Given the description of an element on the screen output the (x, y) to click on. 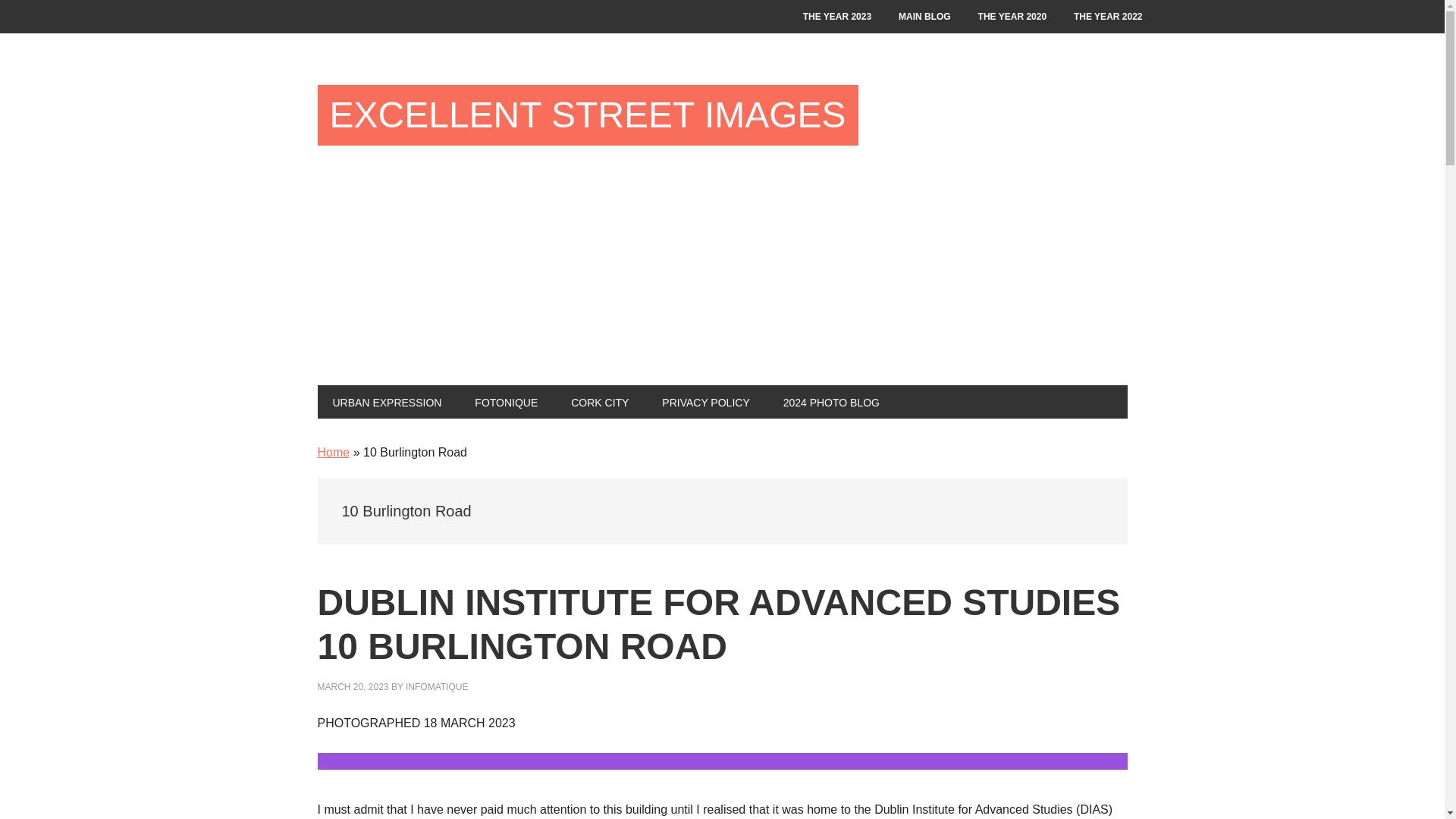
THE YEAR 2022 (1107, 16)
THE YEAR 2020 (1012, 16)
MAIN BLOG (924, 16)
THE YEAR 2023 (836, 16)
